Given the description of an element on the screen output the (x, y) to click on. 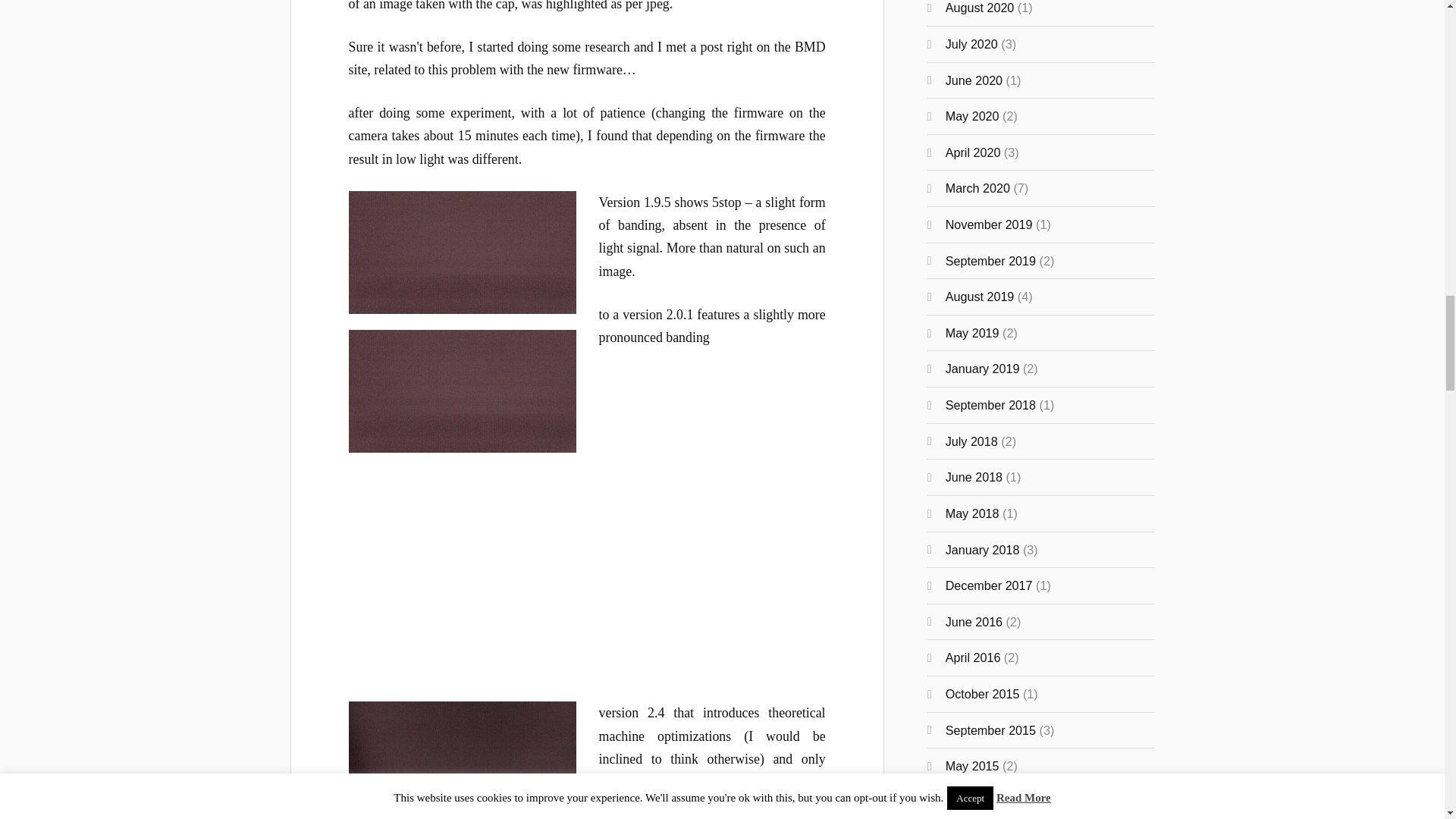
Advertisement (587, 575)
